Given the description of an element on the screen output the (x, y) to click on. 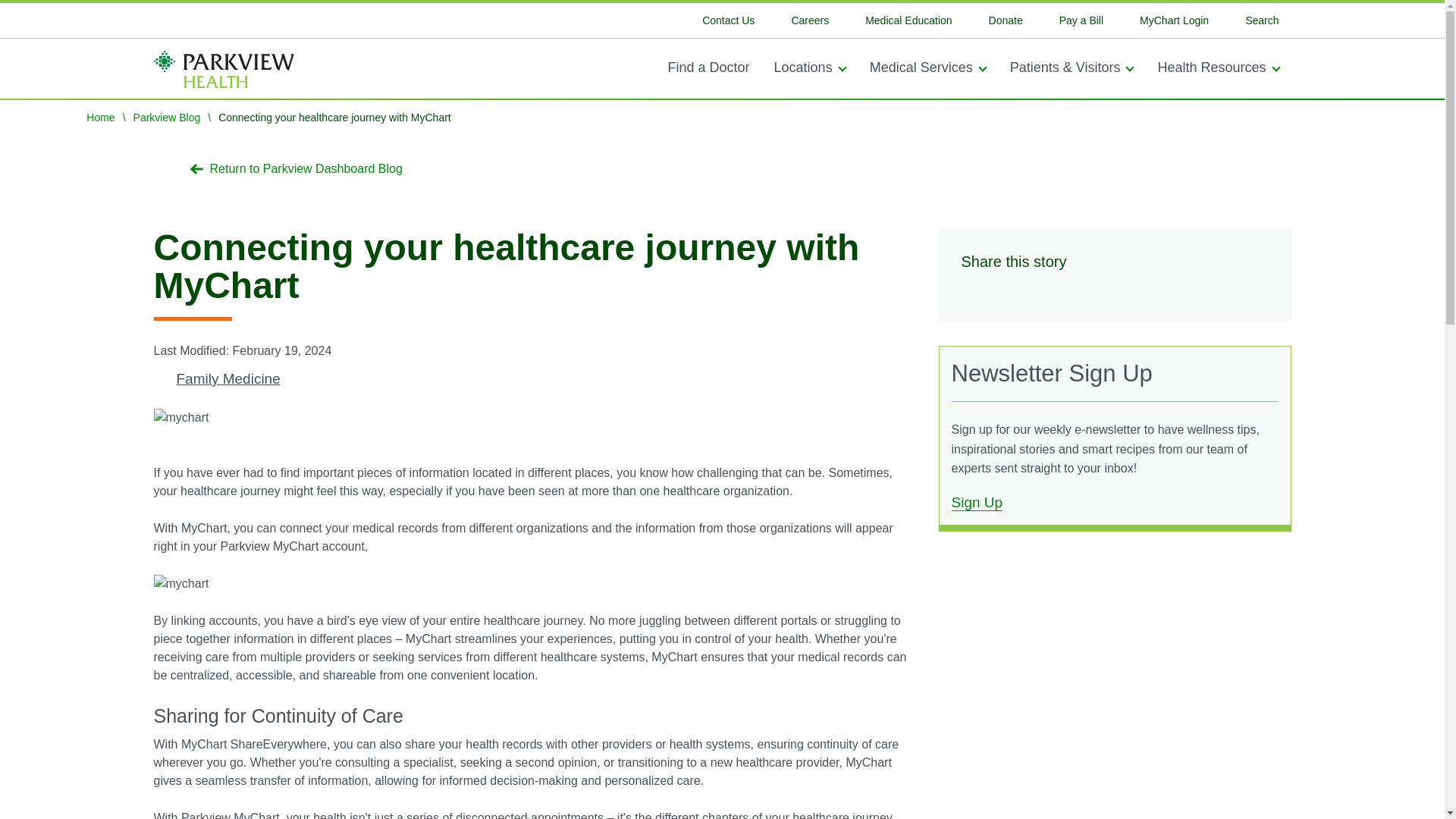
Find a Doctor (708, 65)
Locations (809, 65)
Medical Services (927, 65)
